Given the description of an element on the screen output the (x, y) to click on. 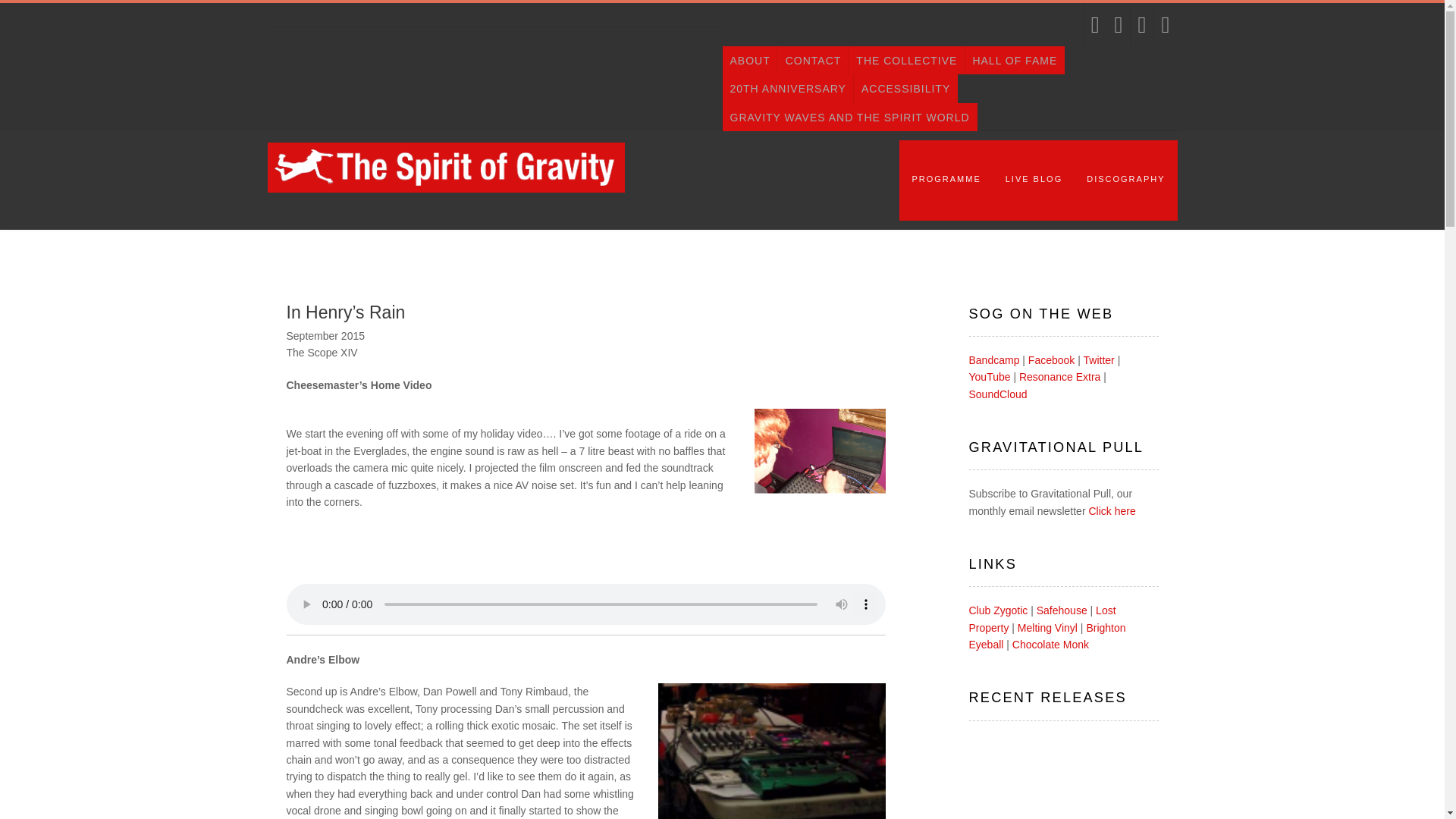
Safehouse (1061, 610)
GRAVITY WAVES AND THE SPIRIT WORLD (849, 117)
DISCOGRAPHY (1125, 180)
Bandcamp (994, 359)
HALL OF FAME (1013, 59)
PROGRAMME (945, 180)
LIVE BLOG (1033, 180)
ABOUT (749, 59)
Click here (1111, 510)
Facebook (1050, 359)
